Given the description of an element on the screen output the (x, y) to click on. 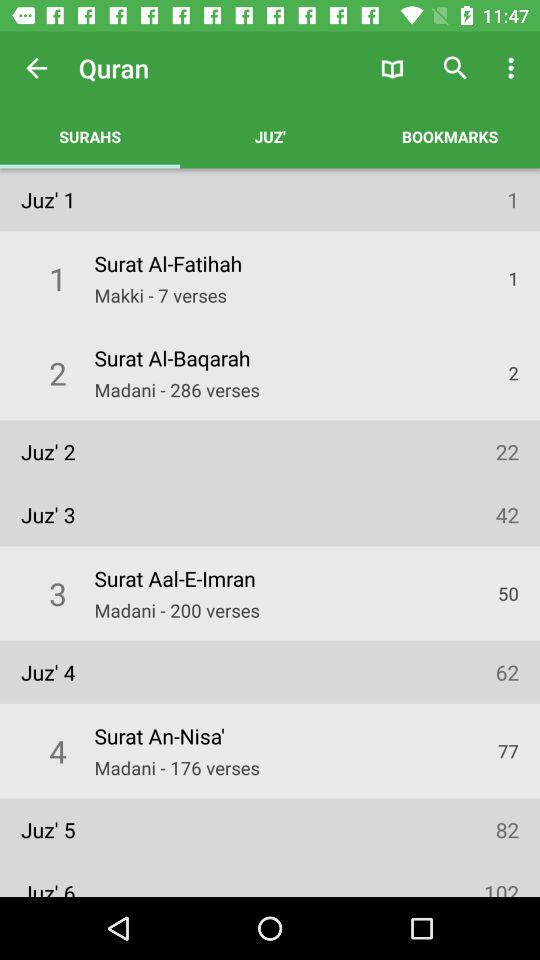
select the icon to the right of the juz' (392, 67)
